Given the description of an element on the screen output the (x, y) to click on. 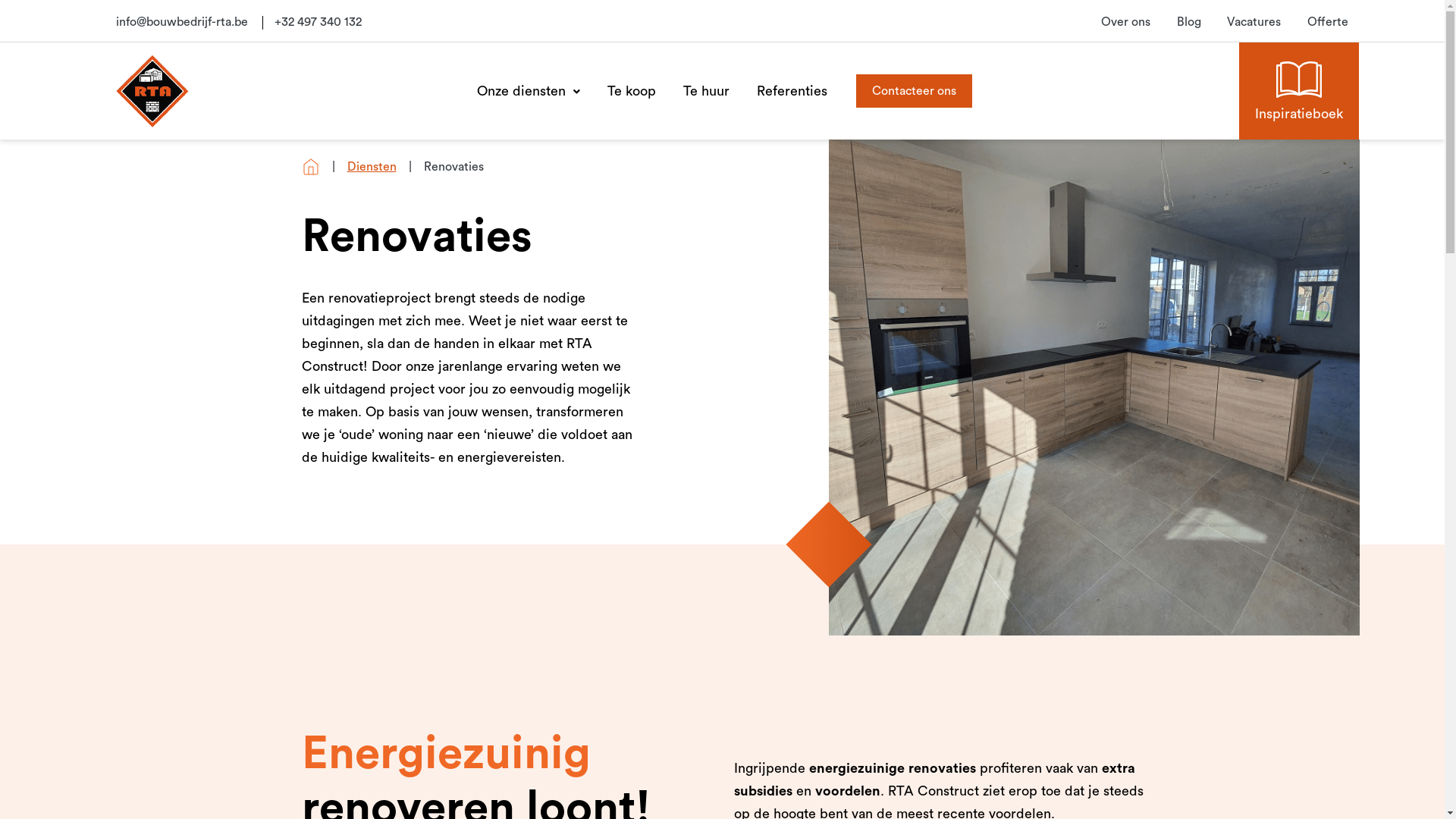
Te koop Element type: text (631, 90)
+32 497 340 132 Element type: text (317, 22)
Referenties Element type: text (791, 90)
Onze diensten Element type: text (528, 90)
Diensten Element type: text (371, 166)
Inspiratieboek Element type: text (1298, 90)
Over ons Element type: text (1125, 22)
Vacatures Element type: text (1253, 22)
Contacteer ons Element type: text (914, 90)
Blog Element type: text (1188, 22)
info@bouwbedrijf-rta.be Element type: text (181, 22)
Te huur Element type: text (706, 90)
Offerte Element type: text (1327, 22)
